Given the description of an element on the screen output the (x, y) to click on. 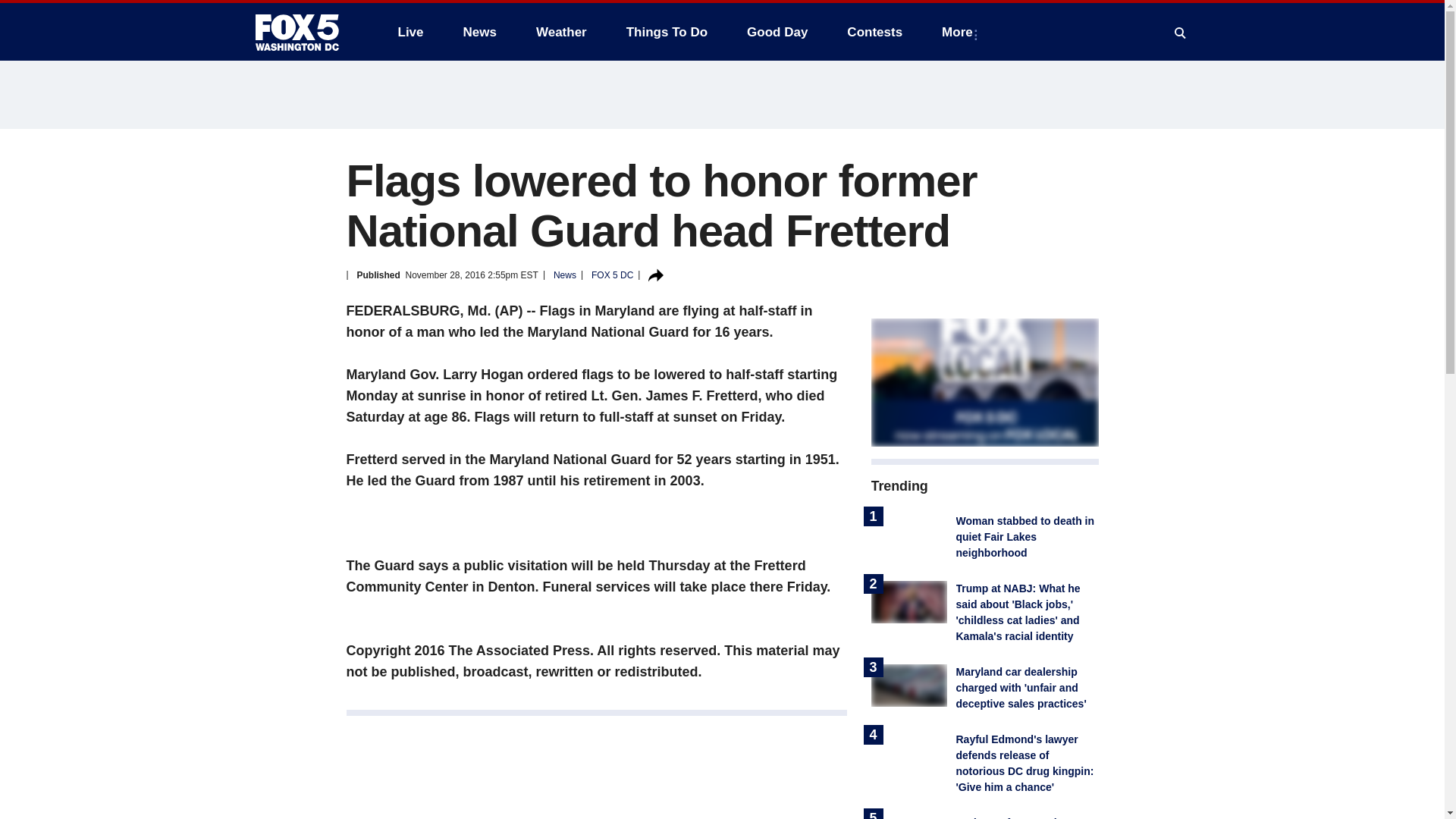
More (960, 32)
Contests (874, 32)
Live (410, 32)
Good Day (777, 32)
Weather (561, 32)
News (479, 32)
Things To Do (666, 32)
